Given the description of an element on the screen output the (x, y) to click on. 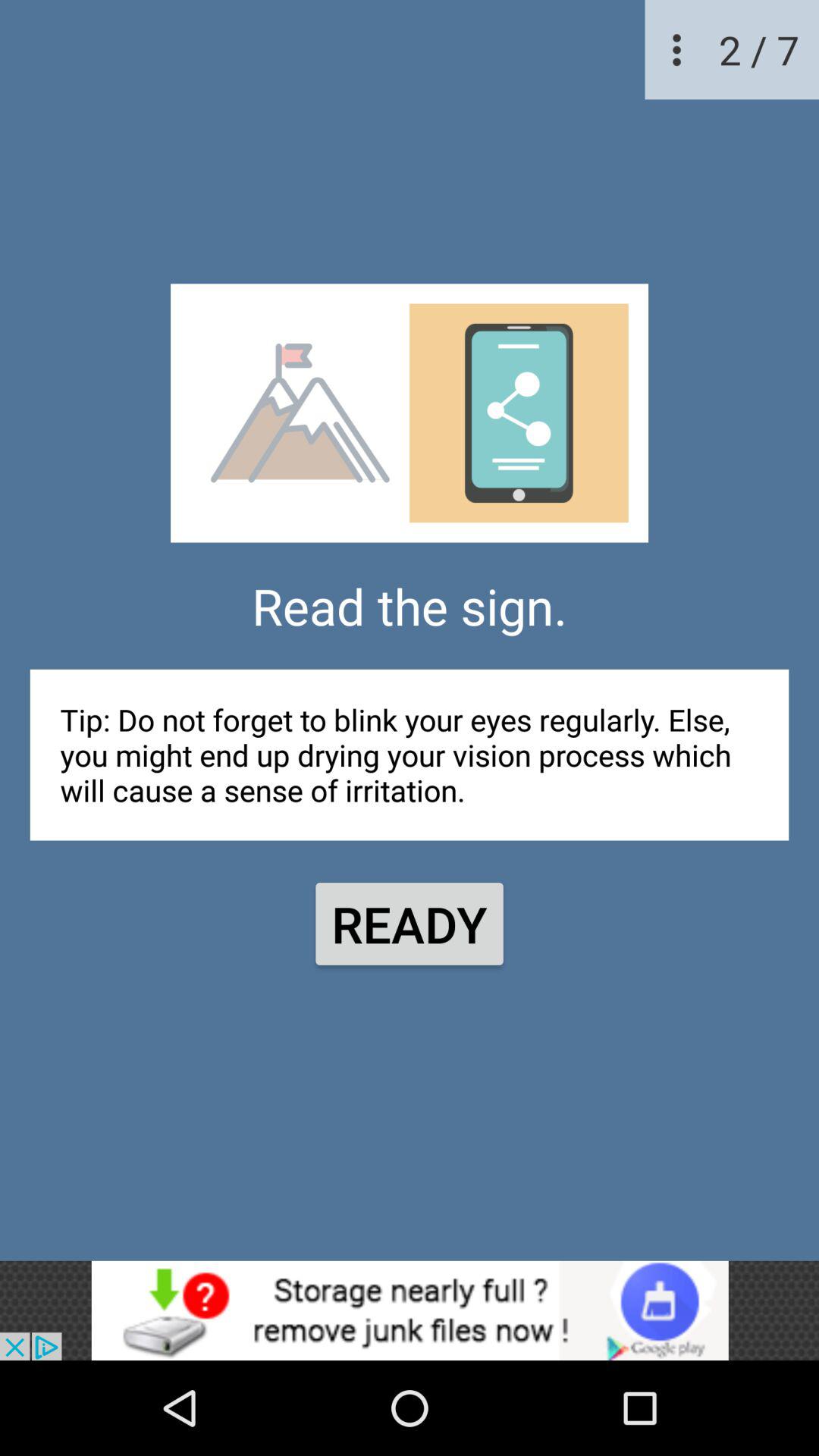
advertisement button (409, 1310)
